Given the description of an element on the screen output the (x, y) to click on. 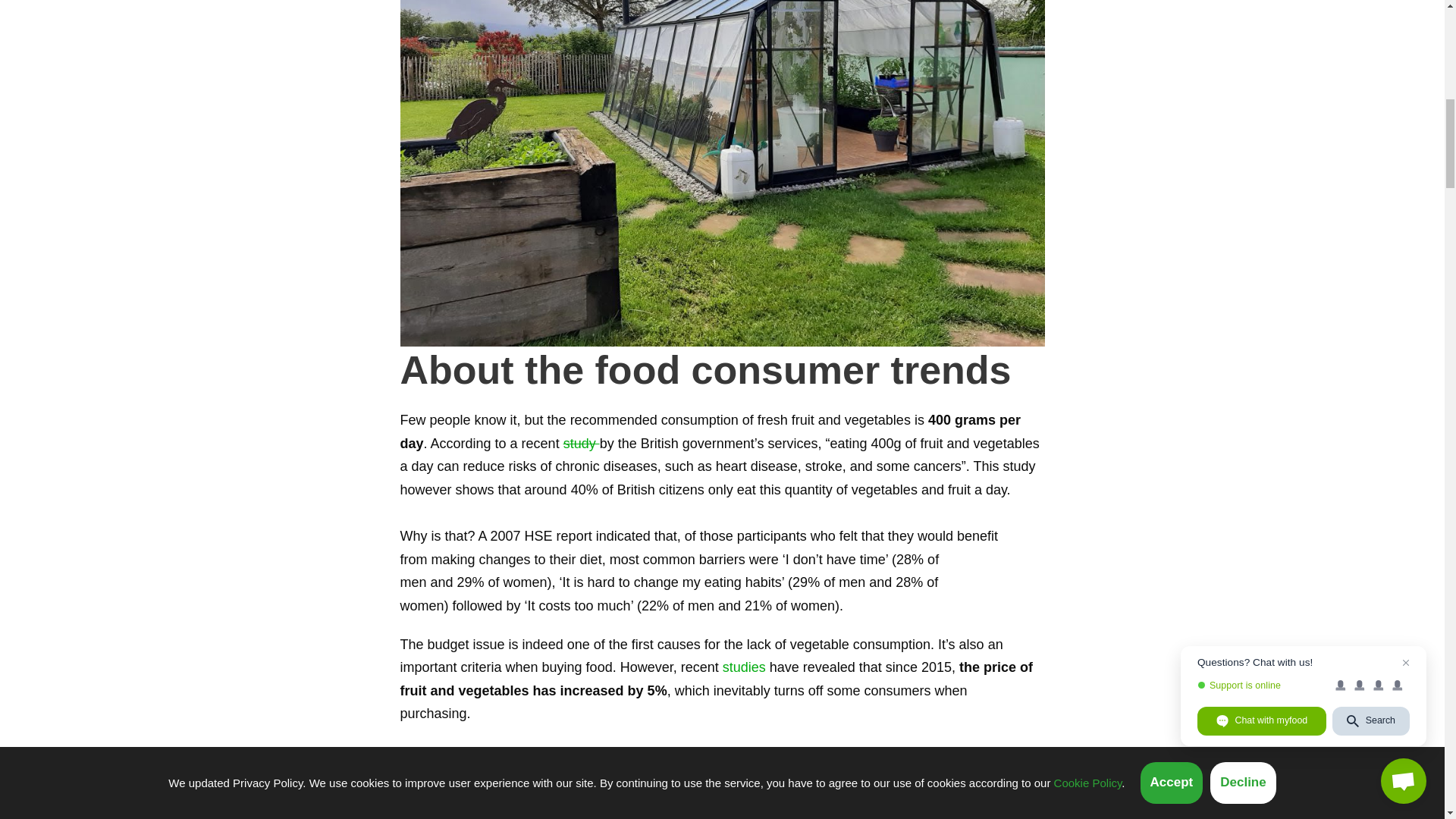
study (581, 443)
studies (743, 667)
